Given the description of an element on the screen output the (x, y) to click on. 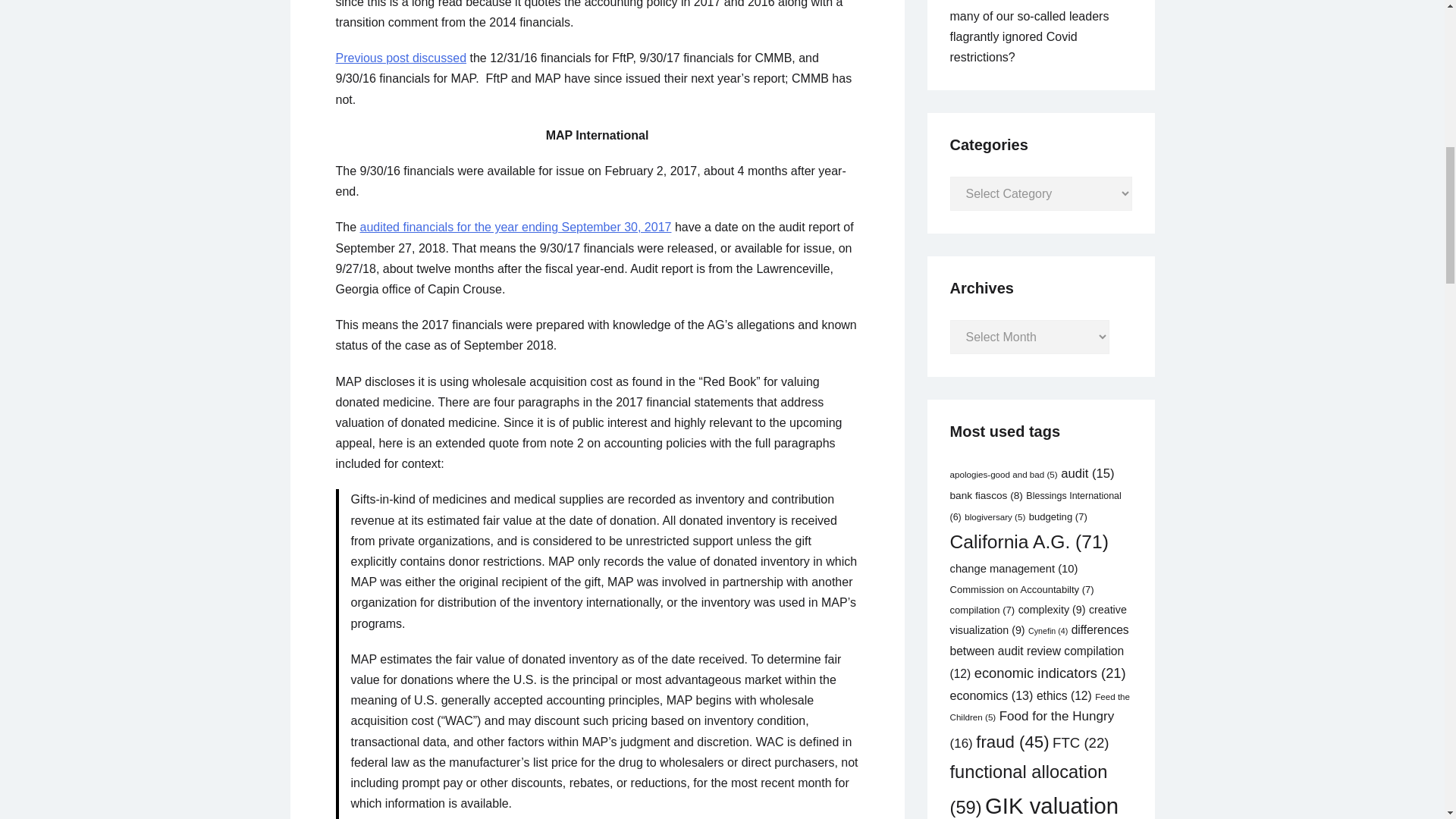
Previous post discussed (399, 57)
audited financials for the year ending September 30, 2017 (515, 226)
